Given the description of an element on the screen output the (x, y) to click on. 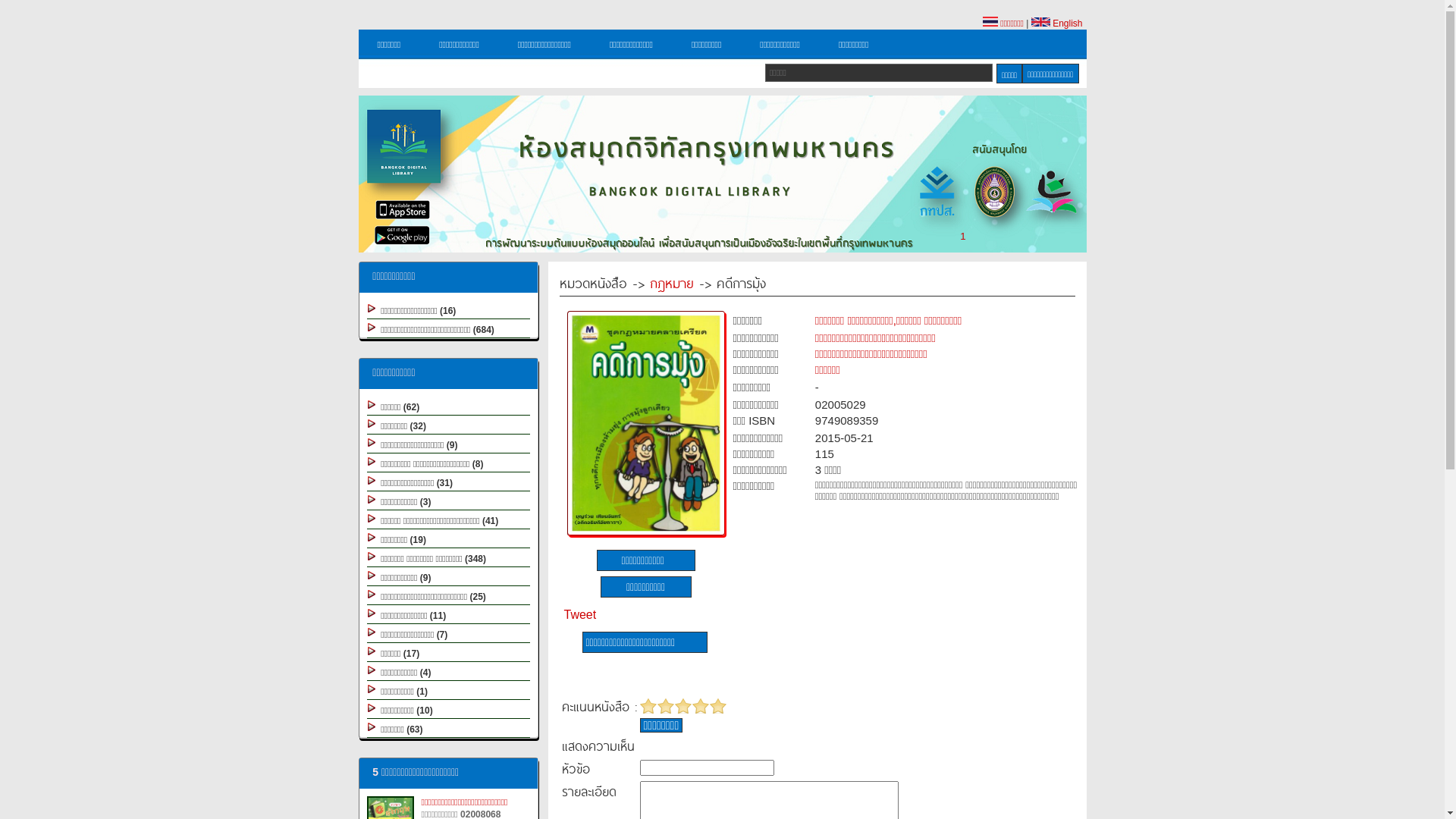
English Element type: text (1056, 23)
Tweet Element type: text (580, 614)
Search Element type: hover (1009, 73)
1 Element type: text (962, 235)
keyword Element type: hover (878, 72)
